Given the description of an element on the screen output the (x, y) to click on. 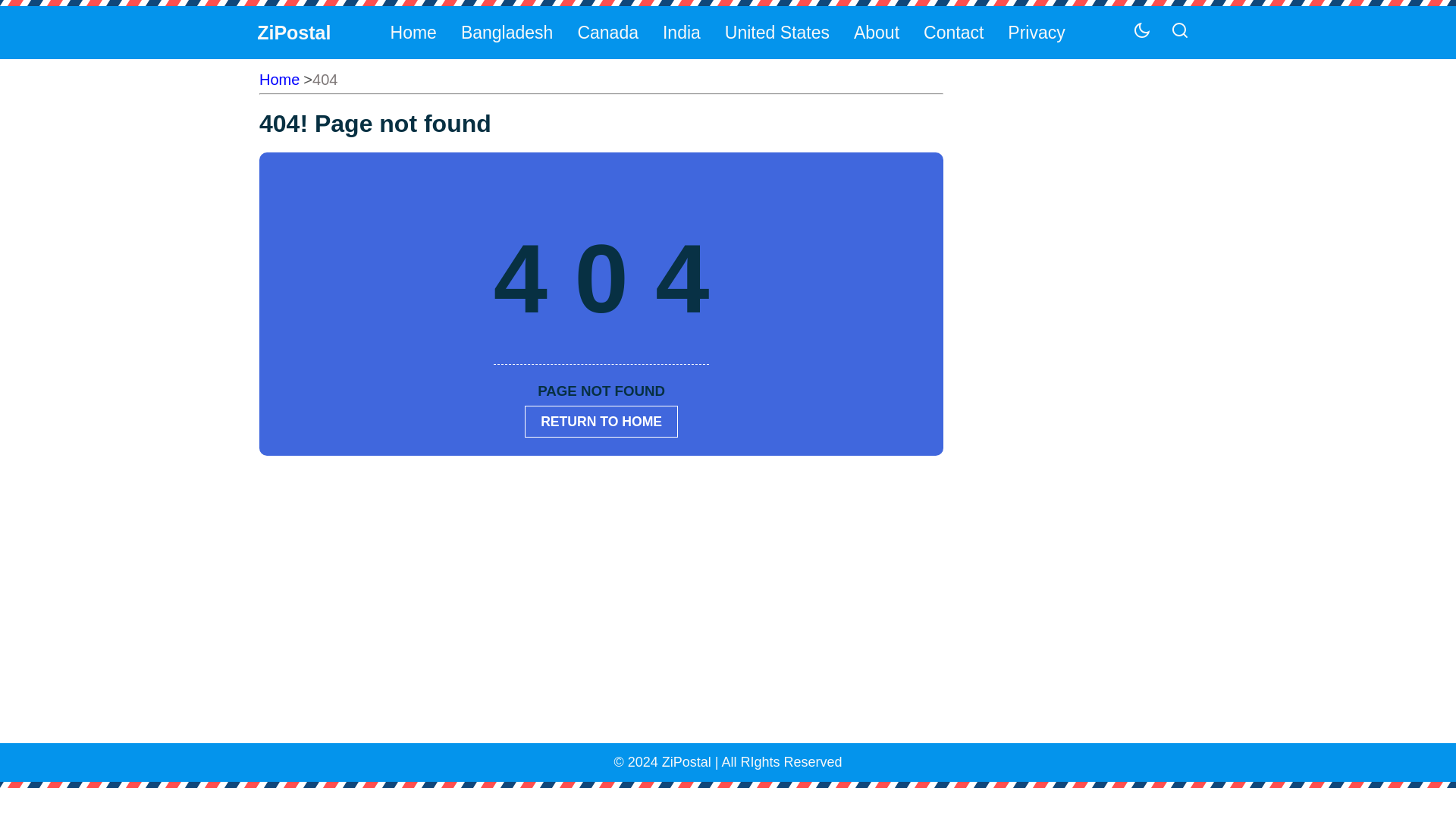
Canada (606, 32)
search (1174, 90)
ZiPostal (293, 31)
Bangladesh (505, 32)
Privacy (1034, 32)
Home (279, 79)
About (875, 32)
Home (412, 32)
United States (776, 32)
India (680, 32)
Contact (952, 32)
RETURN TO HOME (601, 420)
